Given the description of an element on the screen output the (x, y) to click on. 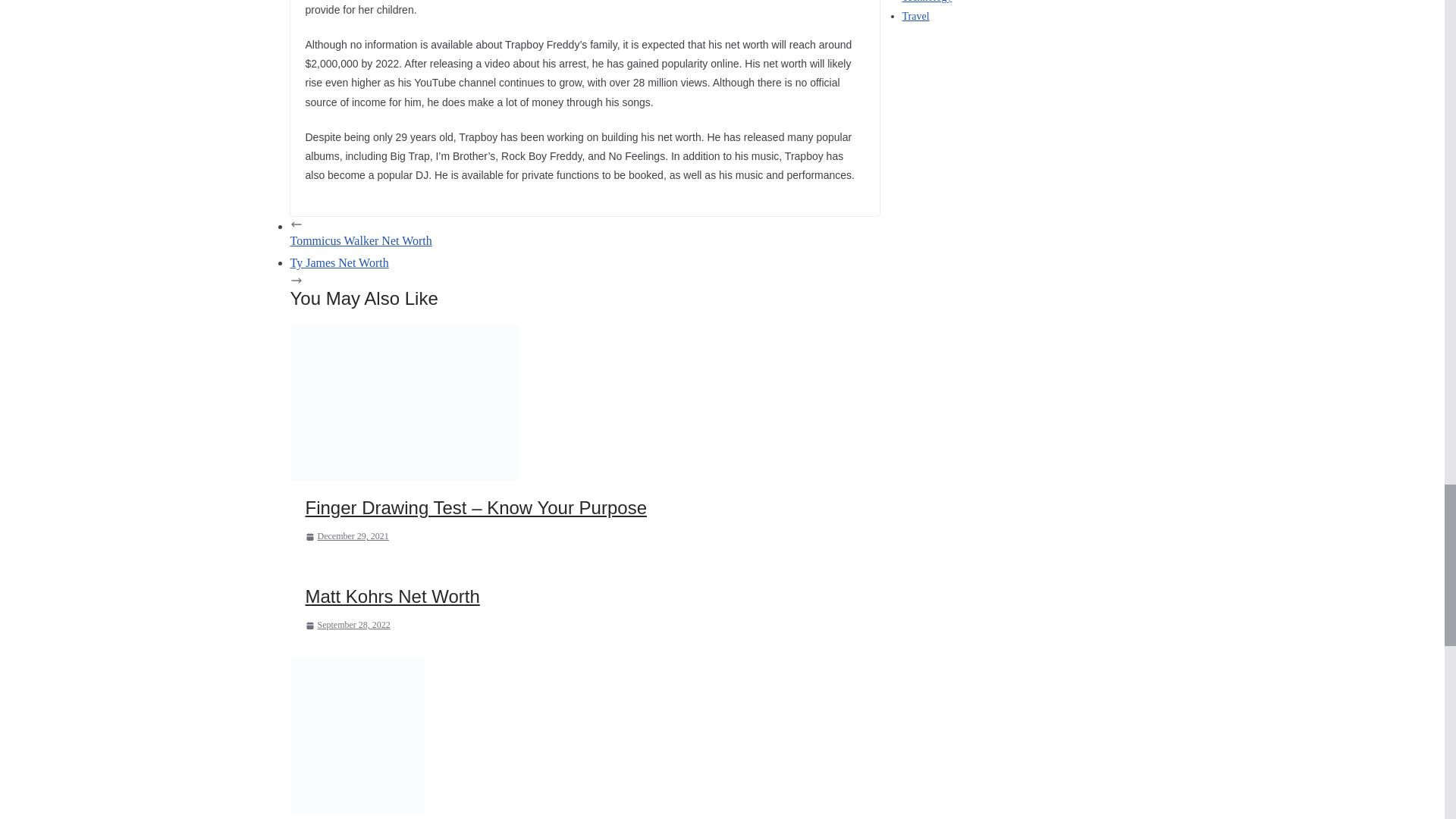
Matt Kohrs Net Worth (391, 596)
Ty James Net Worth (584, 271)
December 29, 2021 (346, 536)
Tommicus Walker Net Worth (584, 232)
September 28, 2022 (347, 625)
Finger Drawing Test Know Your Purpose (403, 402)
